Given the description of an element on the screen output the (x, y) to click on. 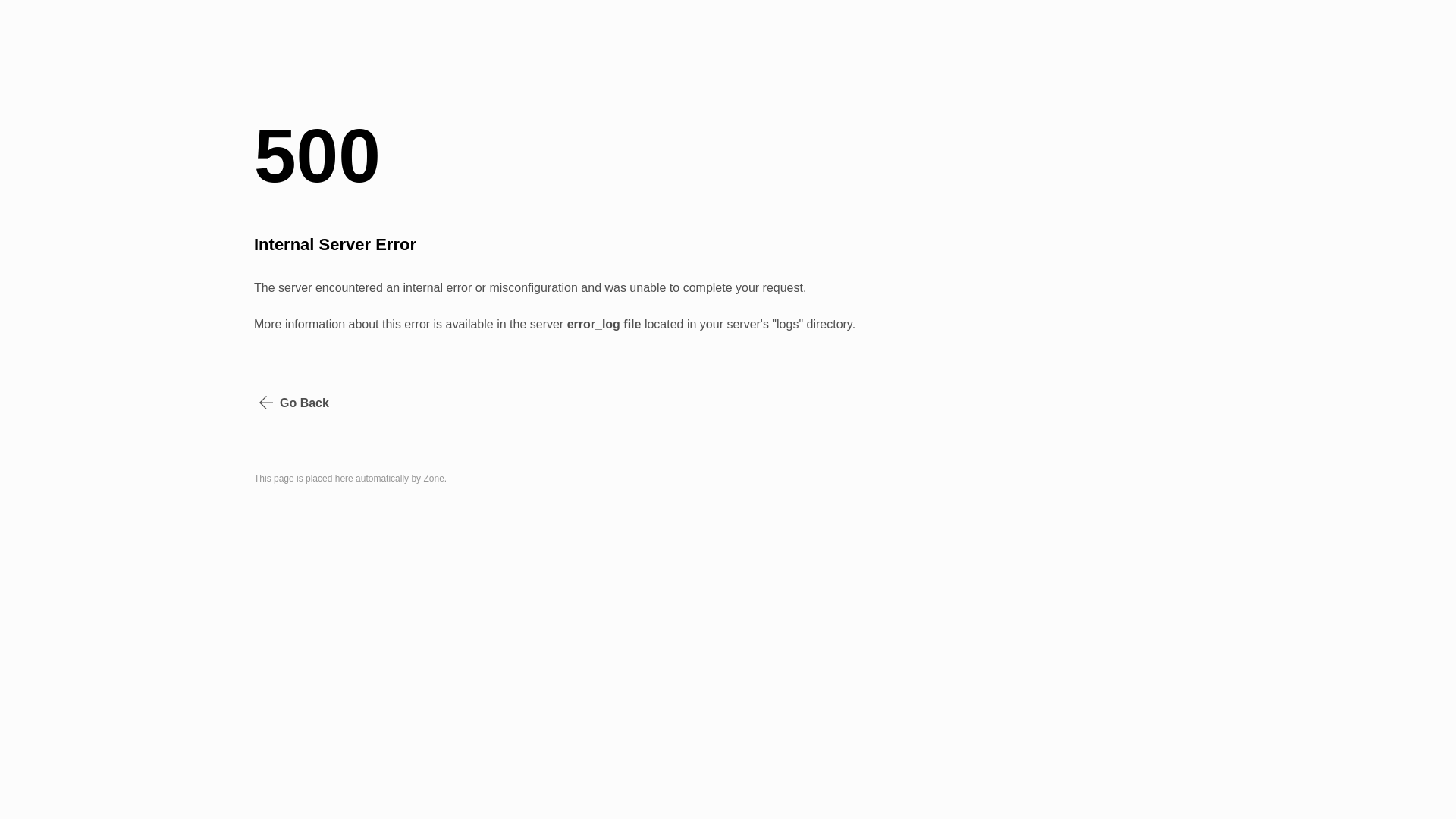
Go Back Element type: text (293, 402)
